Given the description of an element on the screen output the (x, y) to click on. 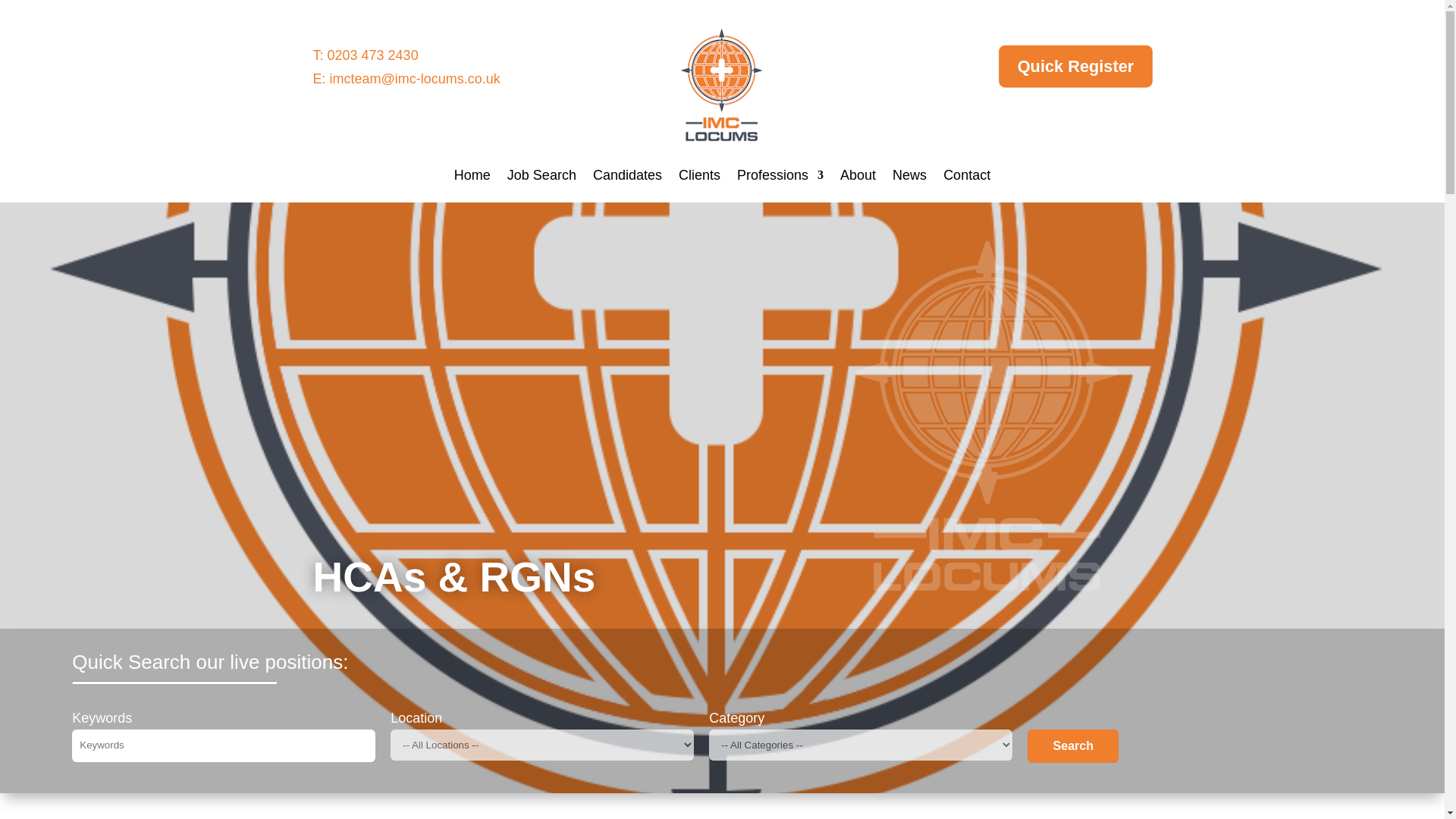
Job Search (541, 178)
0203 473 2430 (373, 55)
Home (472, 178)
contact (415, 78)
News (909, 178)
Clients (699, 178)
phone (373, 55)
About (858, 178)
Quick Register (1055, 60)
IMC Locums Logo (722, 84)
Contact (966, 178)
Candidates (627, 178)
Professions (780, 178)
